Given the description of an element on the screen output the (x, y) to click on. 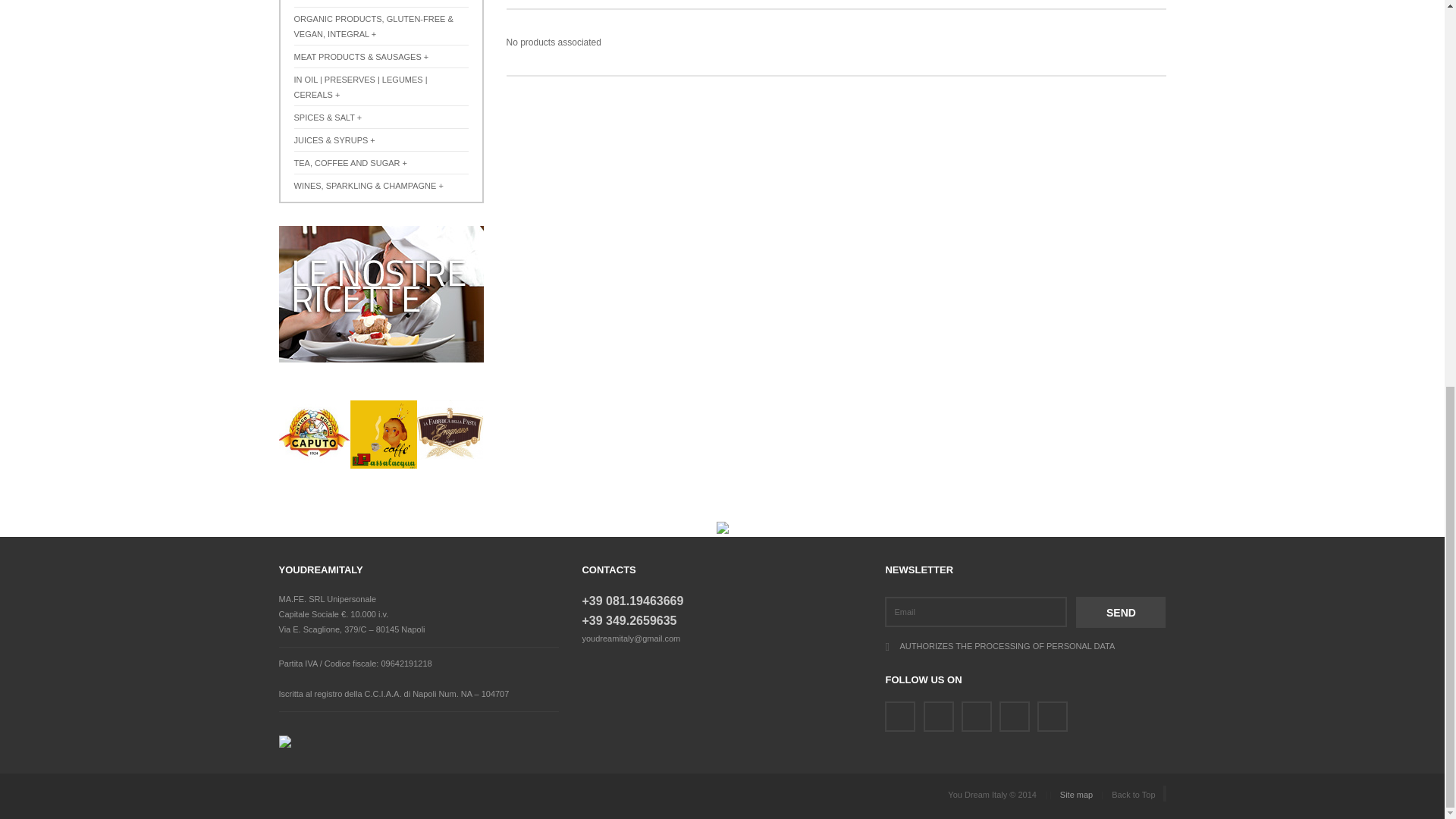
Email (976, 612)
Send (1120, 612)
